Given the description of an element on the screen output the (x, y) to click on. 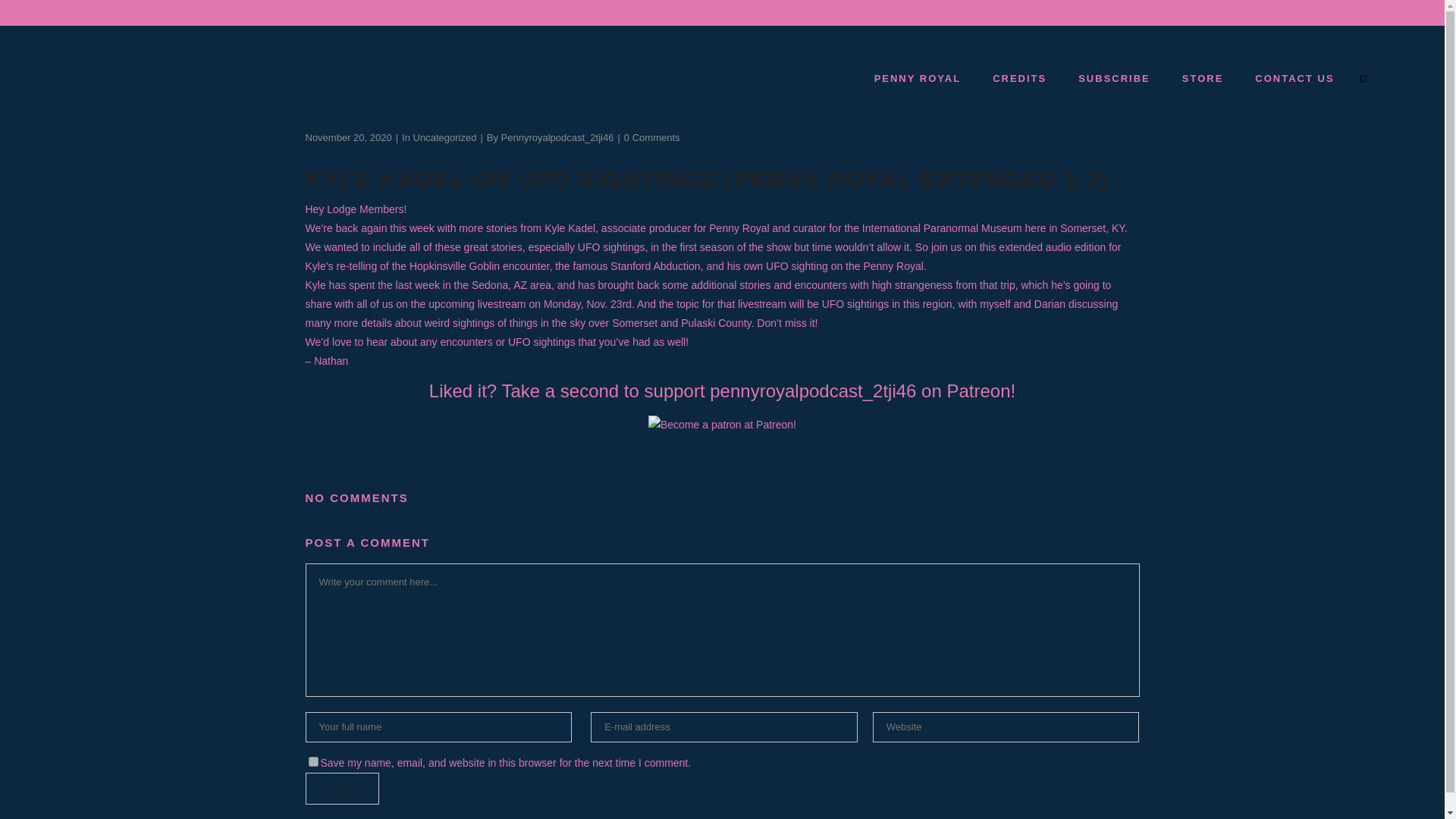
0 Comments (651, 137)
Submit (341, 788)
yes (312, 761)
PENNY ROYAL (917, 78)
Uncategorized (445, 137)
U (998, 412)
SUBSCRIBE (1113, 78)
CONTACT US (1294, 78)
Submit (341, 788)
